Given the description of an element on the screen output the (x, y) to click on. 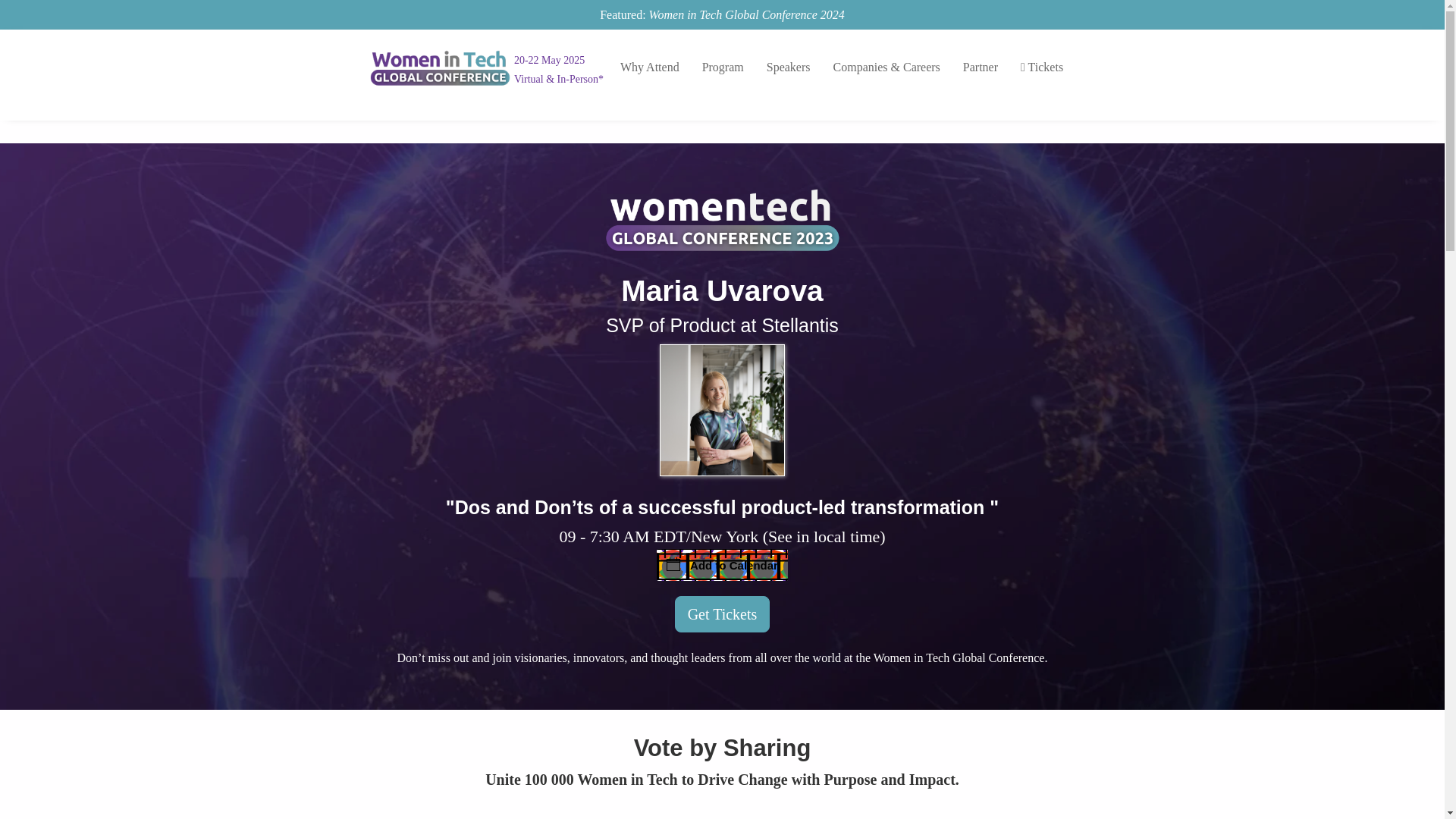
Women in Tech Conference (440, 66)
Partner (980, 67)
Women in Tech Global Conference 2024 (746, 14)
png-image.png (721, 409)
Speakers (788, 67)
Program (722, 67)
Why Attend (649, 67)
Women in Tech Global Conference 2023 (722, 219)
